Given the description of an element on the screen output the (x, y) to click on. 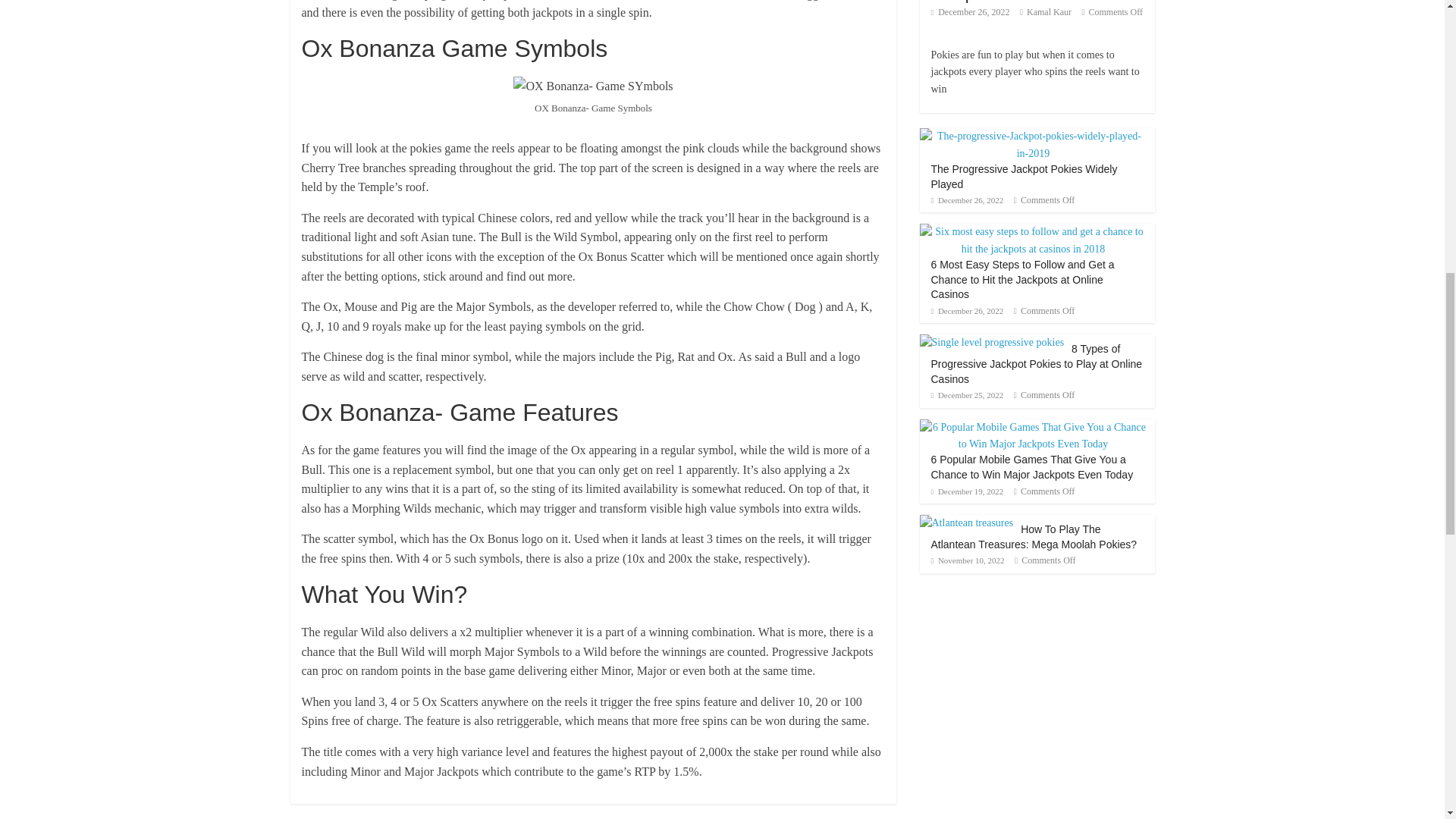
December 26, 2022 (970, 11)
10 Easy-to-Do Tips to Get Your Chance to Win Pokie Jackpots (1028, 1)
Kamal Kaur (1048, 11)
